Given the description of an element on the screen output the (x, y) to click on. 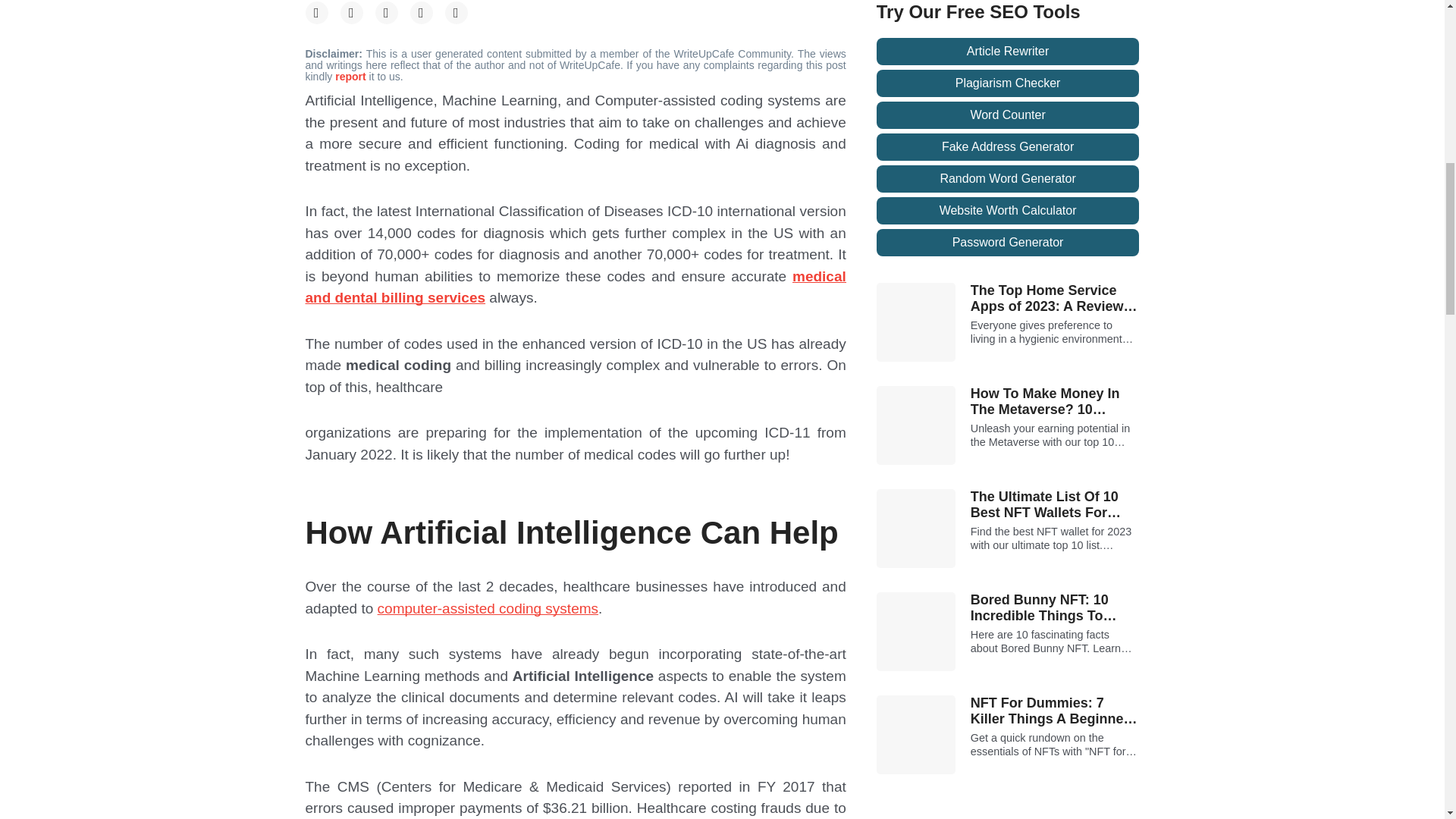
computer-assisted coding systems (487, 608)
Random Word Generator (1008, 178)
Website Worth Calculator (1008, 210)
report (351, 76)
Article Rewriter (1008, 51)
Plagiarism Checker (1008, 83)
Fake Address Generator (1008, 146)
medical and dental billing services (574, 287)
The Top Home Service Apps of 2023: A Review and Comparison (1055, 298)
Password Generator (1008, 242)
Word Counter (1008, 114)
